Given the description of an element on the screen output the (x, y) to click on. 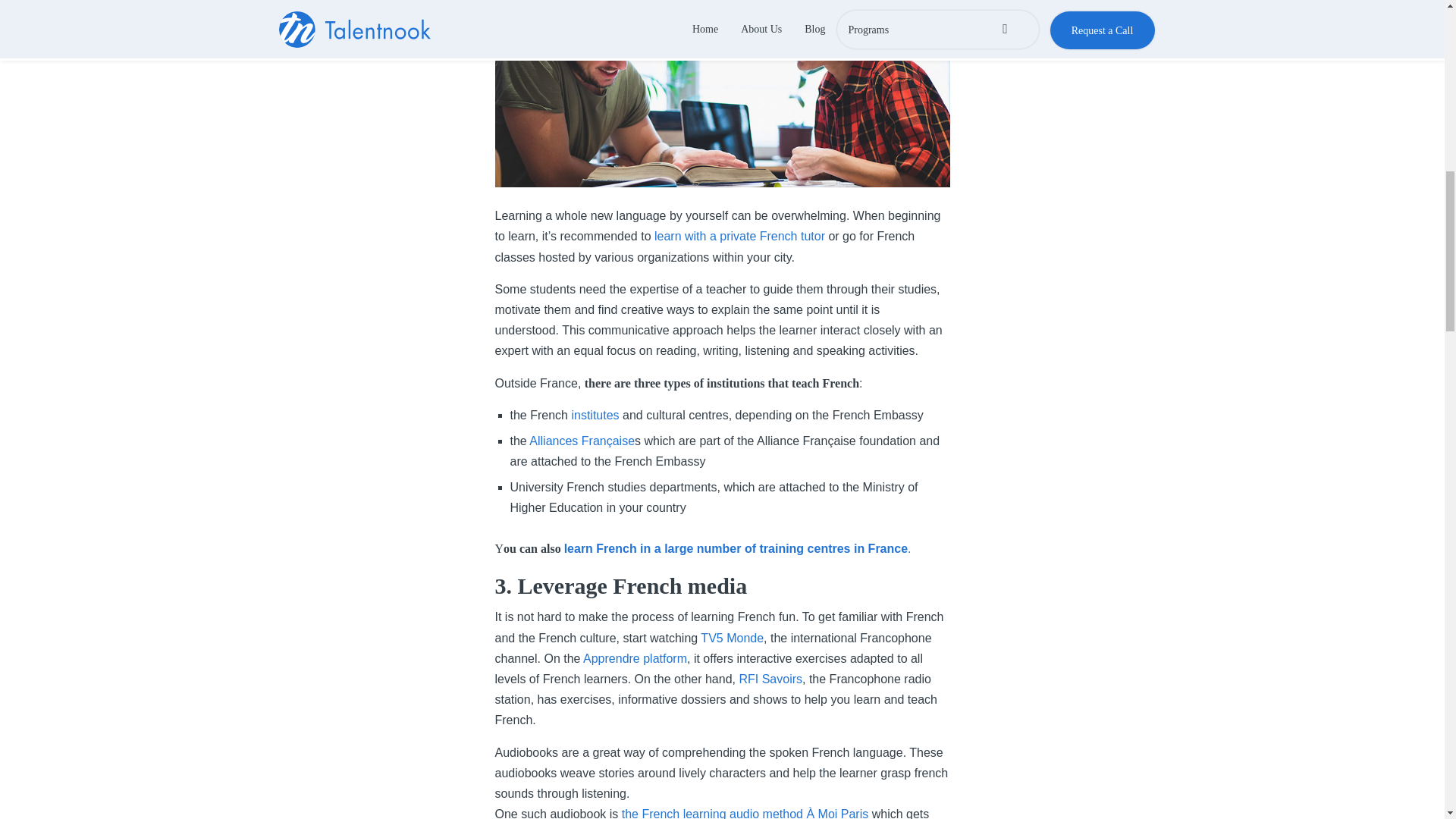
learn with a private French tutor (739, 236)
Apprendre platform (635, 658)
institutes (594, 414)
RFI Savoirs (770, 678)
TV5 Monde (731, 637)
